Given the description of an element on the screen output the (x, y) to click on. 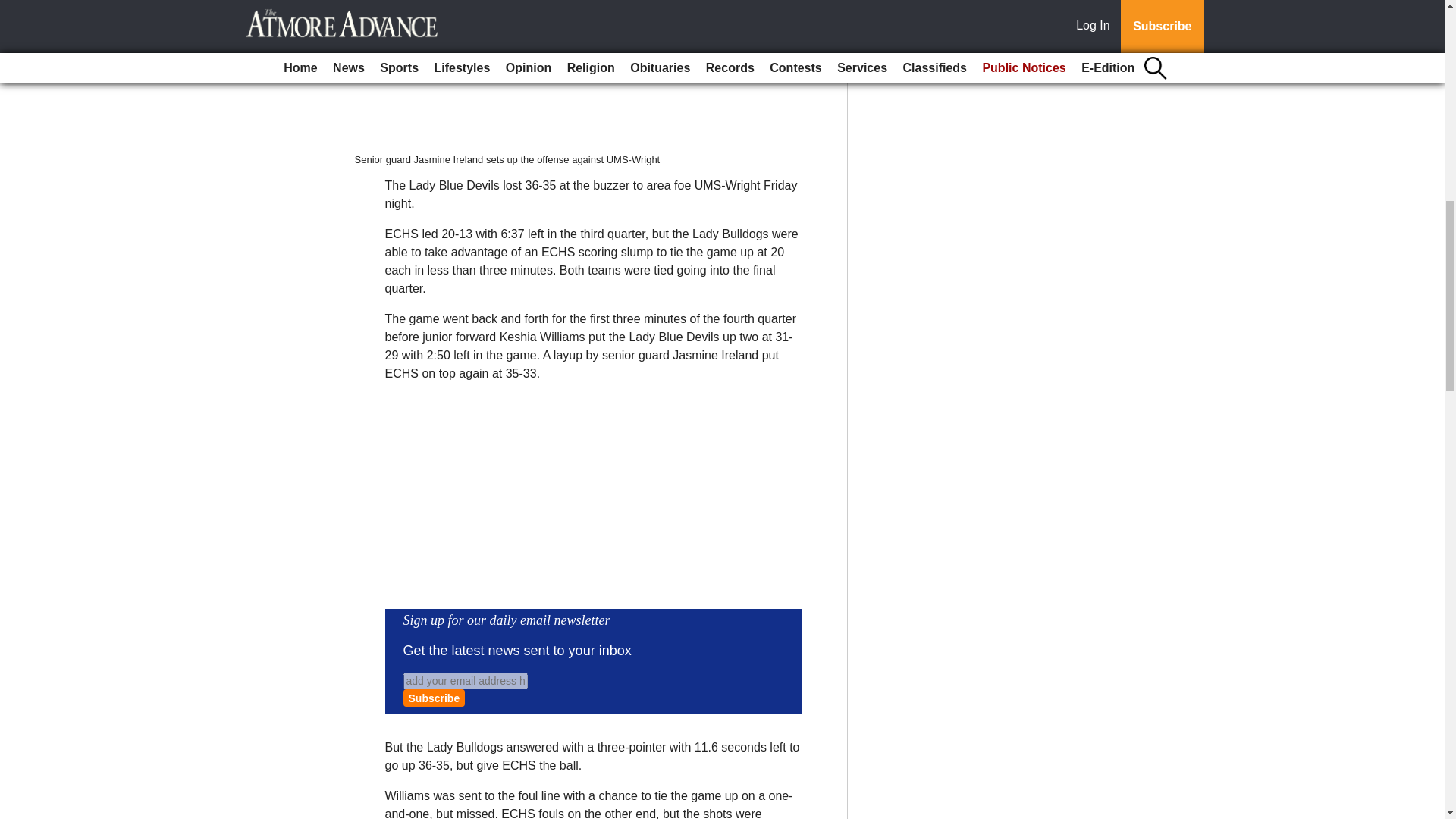
Subscribe (434, 697)
LadyDevilsforweb (582, 76)
Subscribe (434, 697)
